Given the description of an element on the screen output the (x, y) to click on. 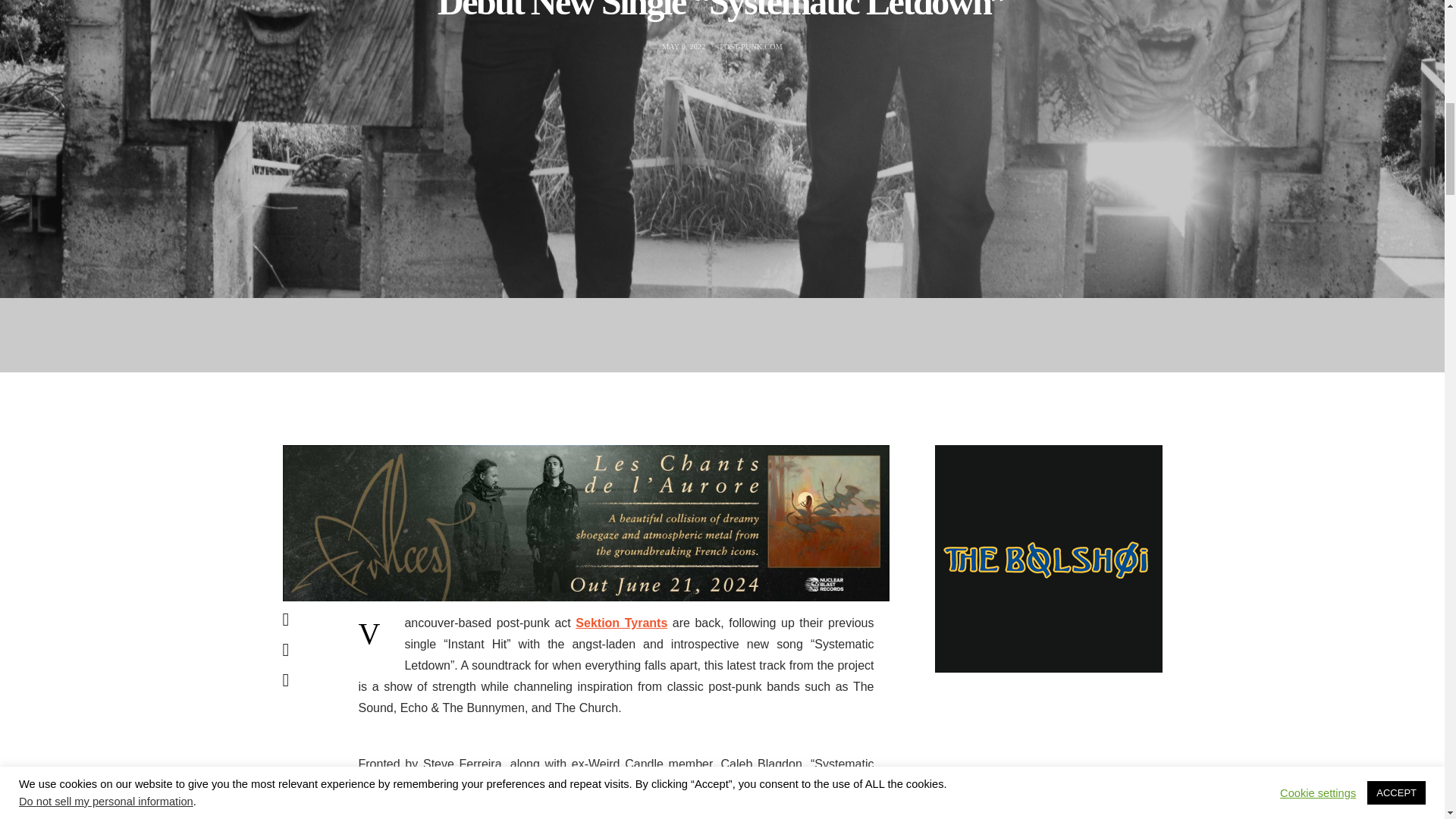
View all posts by post-punk.com (751, 46)
